Given the description of an element on the screen output the (x, y) to click on. 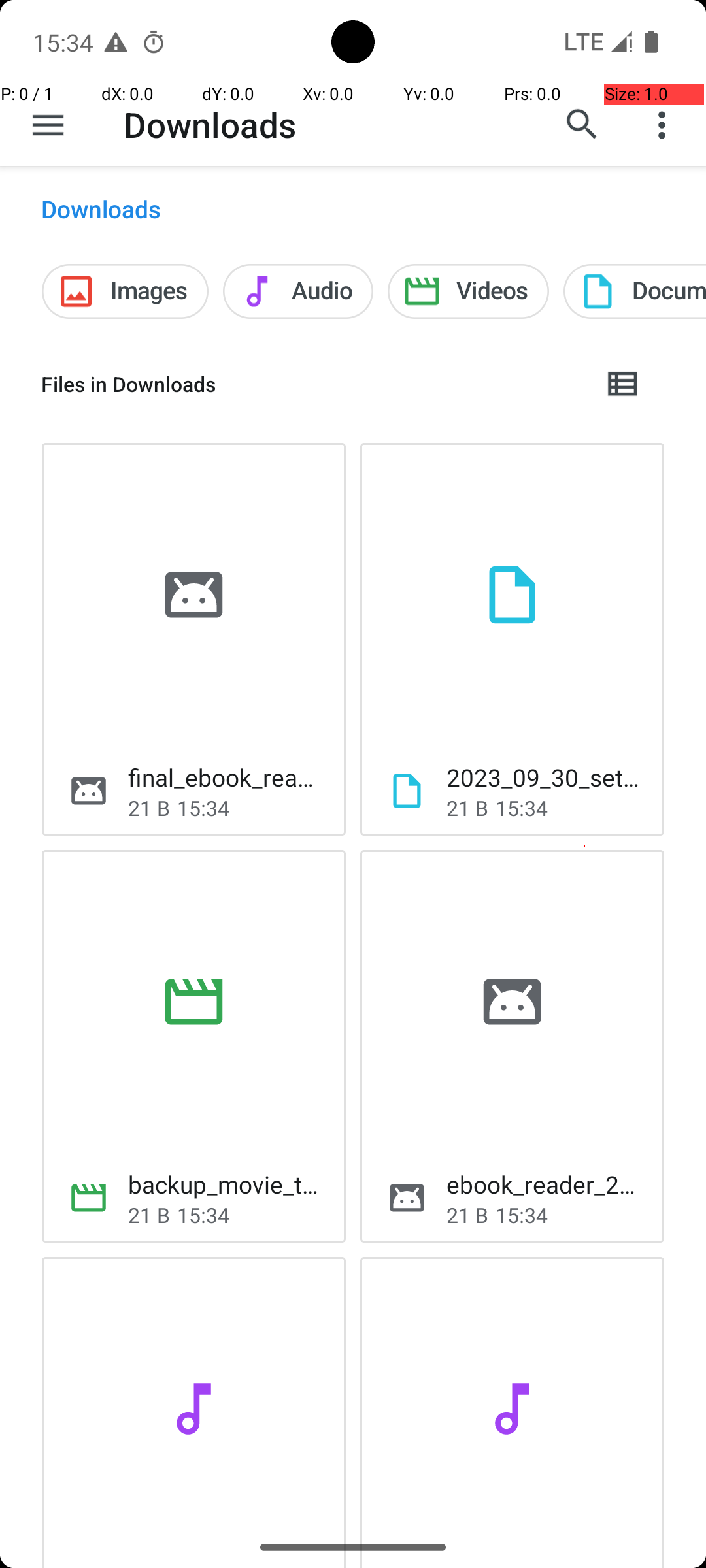
final_ebook_reader.apk Element type: android.widget.TextView (226, 776)
21 B Element type: android.widget.TextView (148, 807)
2023_09_30_setup_exe.exe Element type: android.widget.TextView (544, 776)
backup_movie_trailer.mp4 Element type: android.widget.TextView (226, 1183)
ebook_reader_2023_07_15.apk Element type: android.widget.TextView (544, 1183)
